Given the description of an element on the screen output the (x, y) to click on. 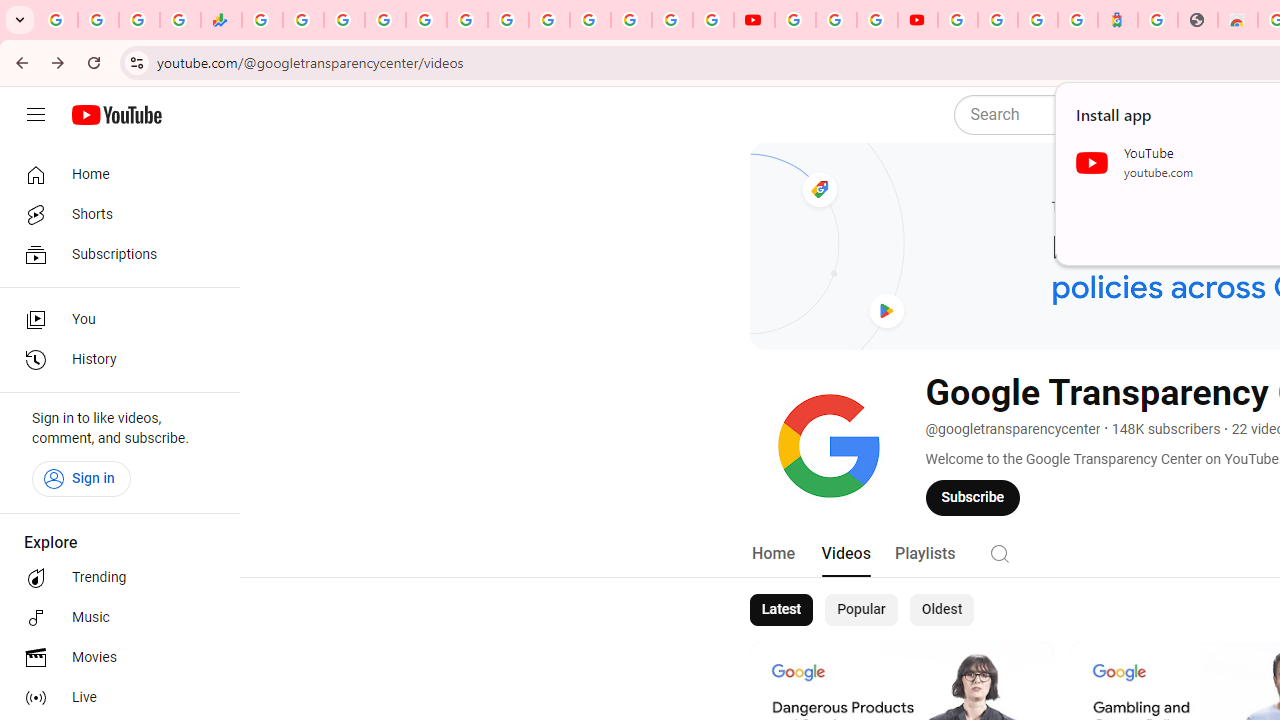
Playlists (924, 553)
Sign in - Google Accounts (384, 20)
YouTube (795, 20)
Guide (35, 115)
Shorts (113, 214)
Trending (113, 578)
Videos (845, 553)
